Given the description of an element on the screen output the (x, y) to click on. 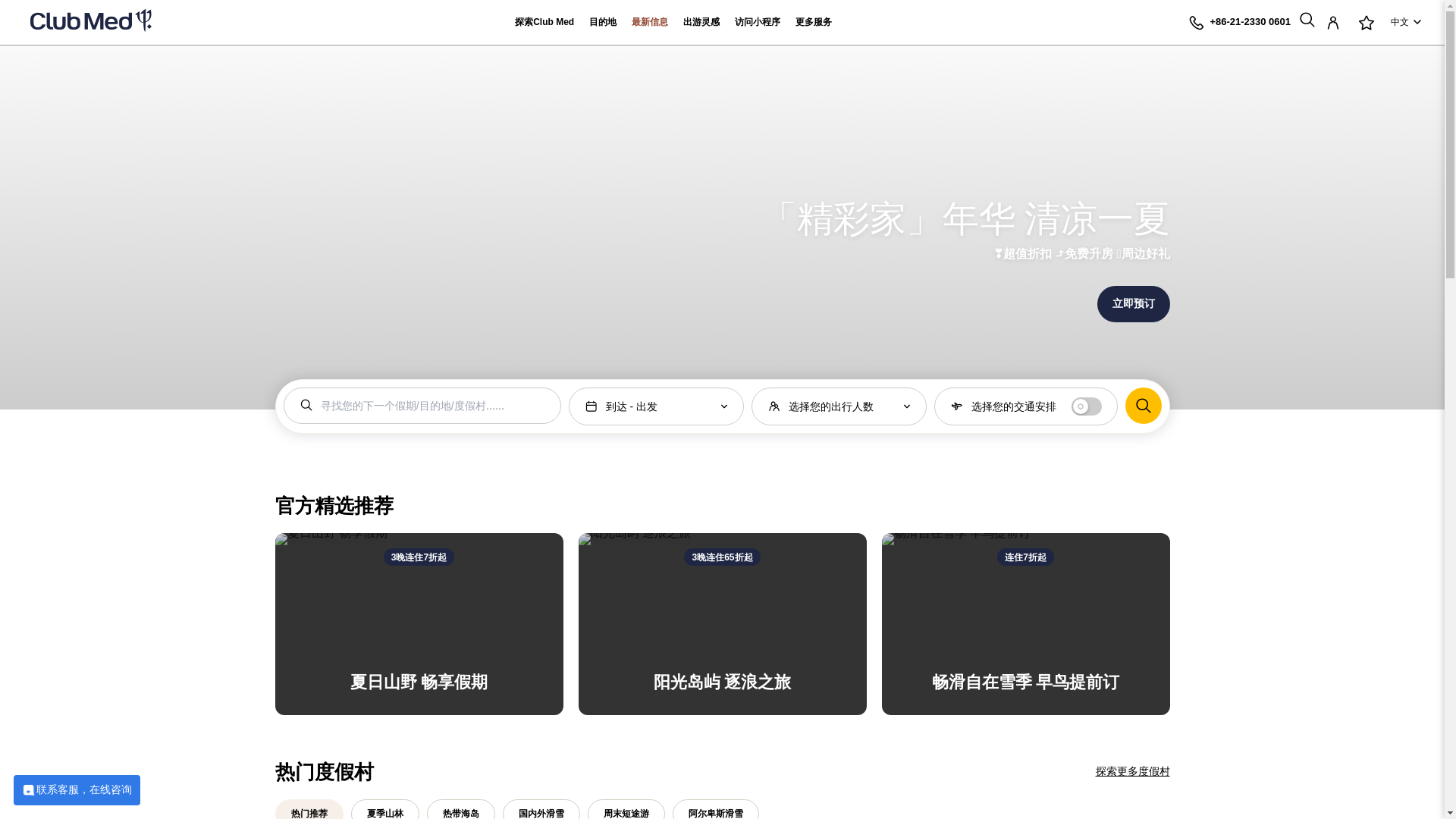
languages (1406, 22)
Club Med Homepage (90, 22)
Club Med Homepage (90, 22)
